Given the description of an element on the screen output the (x, y) to click on. 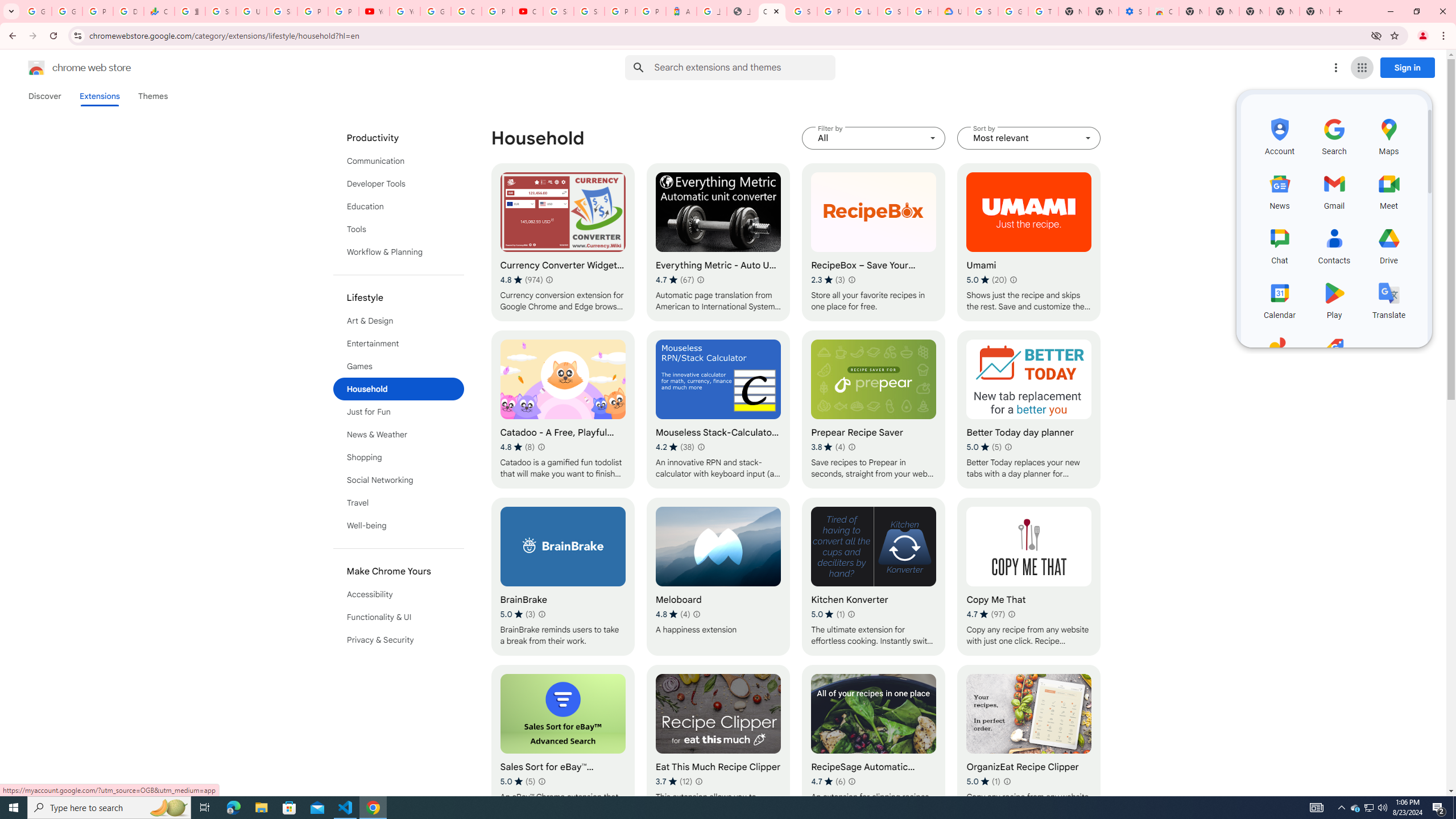
Catadoo - A Free, Playful and Fun Todolist! (562, 409)
YouTube (404, 11)
Shopping (398, 456)
Sign in - Google Accounts (558, 11)
Google Account Help (1012, 11)
Average rating 5 out of 5 stars. 3 ratings. (517, 613)
Meloboard (718, 576)
